Given the description of an element on the screen output the (x, y) to click on. 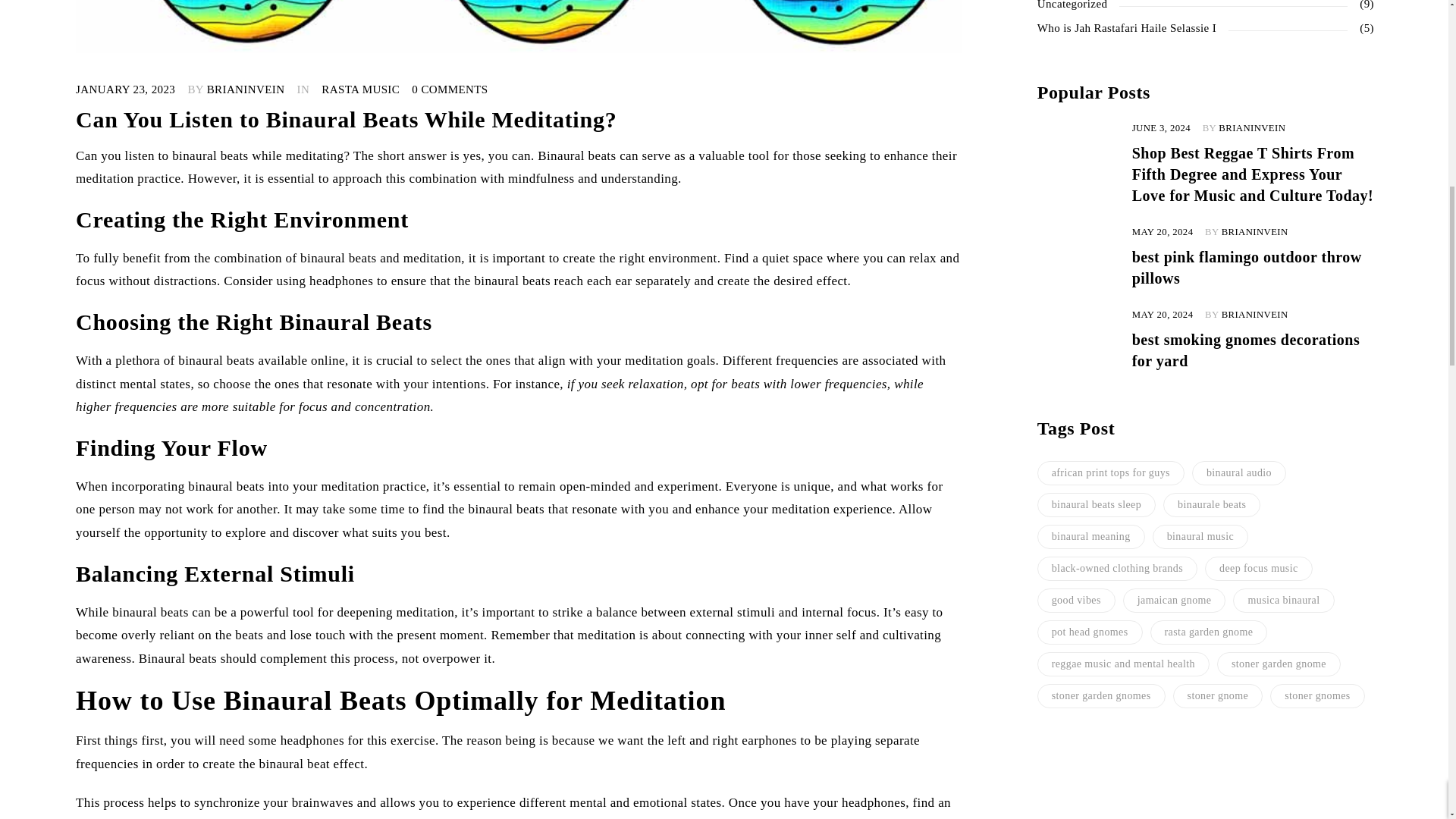
Who is Jah Rastafari Haile Selassie I (1125, 28)
RASTA MUSIC (359, 89)
BRIANINVEIN (1251, 127)
Uncategorized (1072, 5)
Posts by Brianinvein (1254, 231)
Posts by Brianinvein (1251, 127)
Can You Listen to Binaural Beats While Meditating? (345, 119)
Posts by Brianinvein (245, 89)
BRIANINVEIN (245, 89)
